Given the description of an element on the screen output the (x, y) to click on. 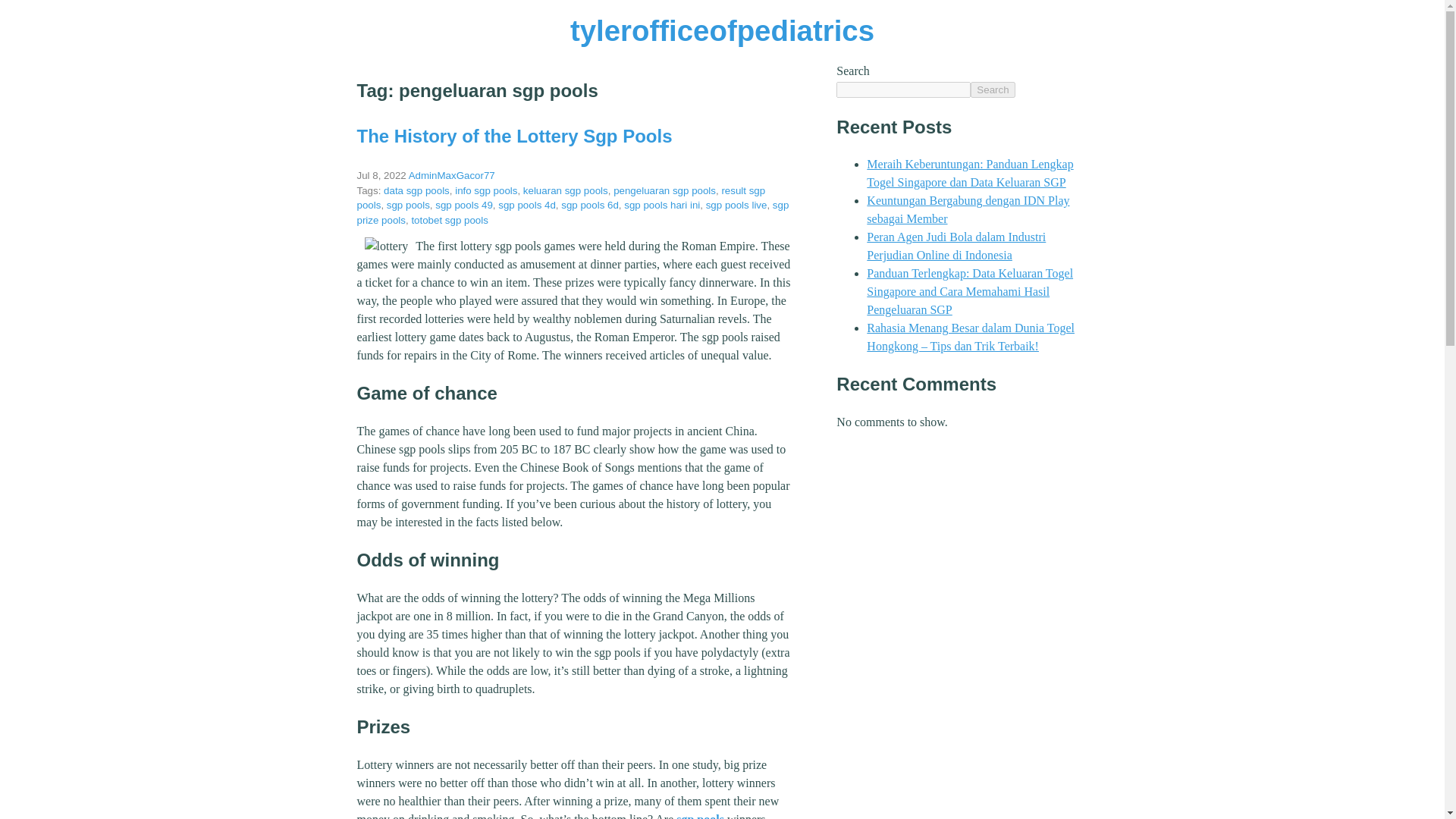
sgp pools (700, 816)
keluaran sgp pools (565, 190)
pengeluaran sgp pools (664, 190)
The History of the Lottery Sgp Pools (513, 136)
AdminMaxGacor77 (452, 174)
Search (992, 89)
sgp pools 49 (464, 204)
sgp prize pools (572, 212)
totobet sgp pools (448, 220)
sgp pools 6d (589, 204)
Keuntungan Bergabung dengan IDN Play sebagai Member (967, 209)
sgp pools hari ini (662, 204)
result sgp pools (560, 198)
